Given the description of an element on the screen output the (x, y) to click on. 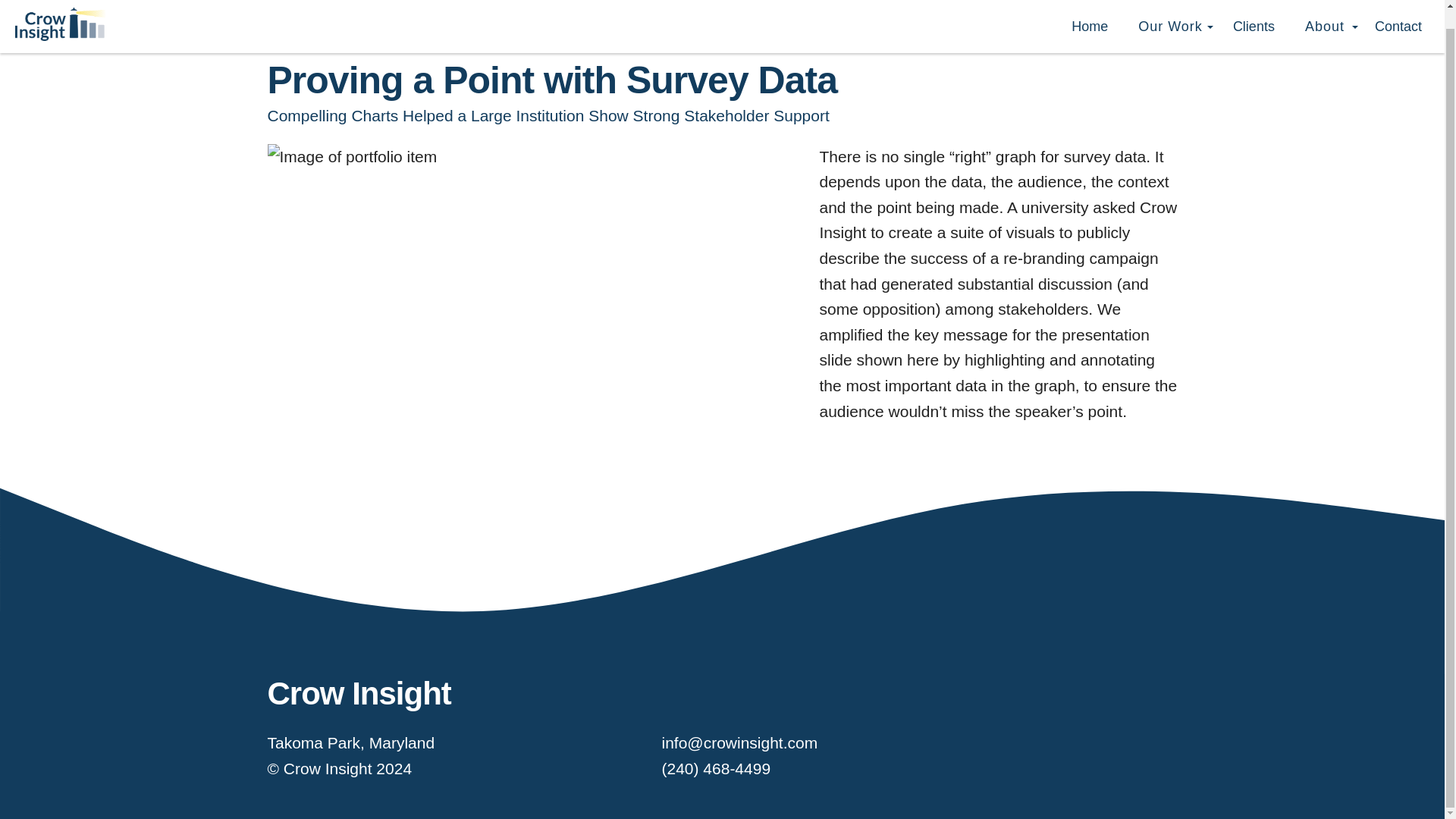
Home (1089, 7)
Clients (1254, 7)
Contact (1398, 7)
Our Work (1170, 9)
About (1323, 9)
